Given the description of an element on the screen output the (x, y) to click on. 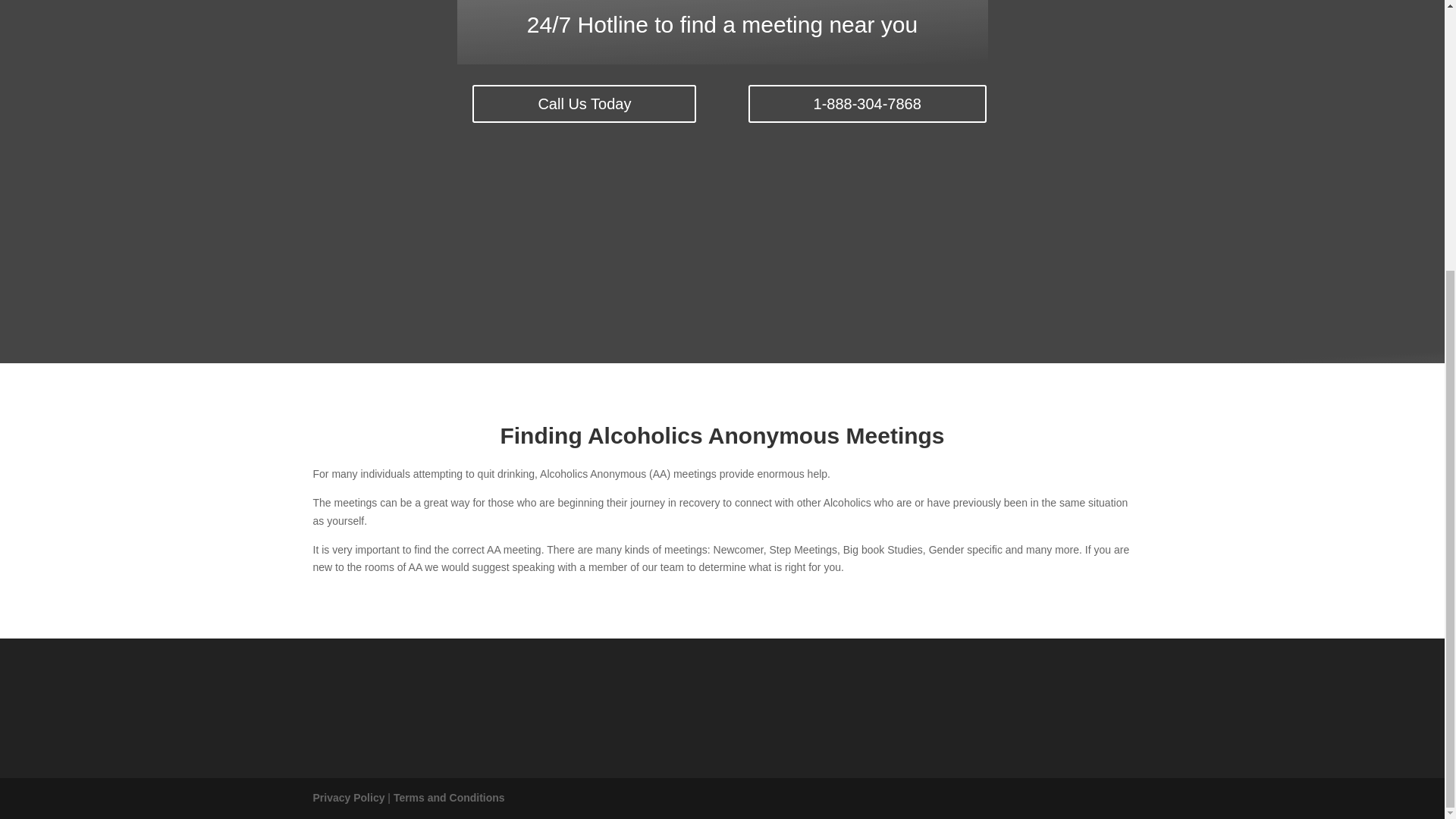
Call Us Today (583, 103)
1-888-304-7868 (867, 103)
Terms and Conditions (449, 797)
Privacy Policy (348, 797)
